Given the description of an element on the screen output the (x, y) to click on. 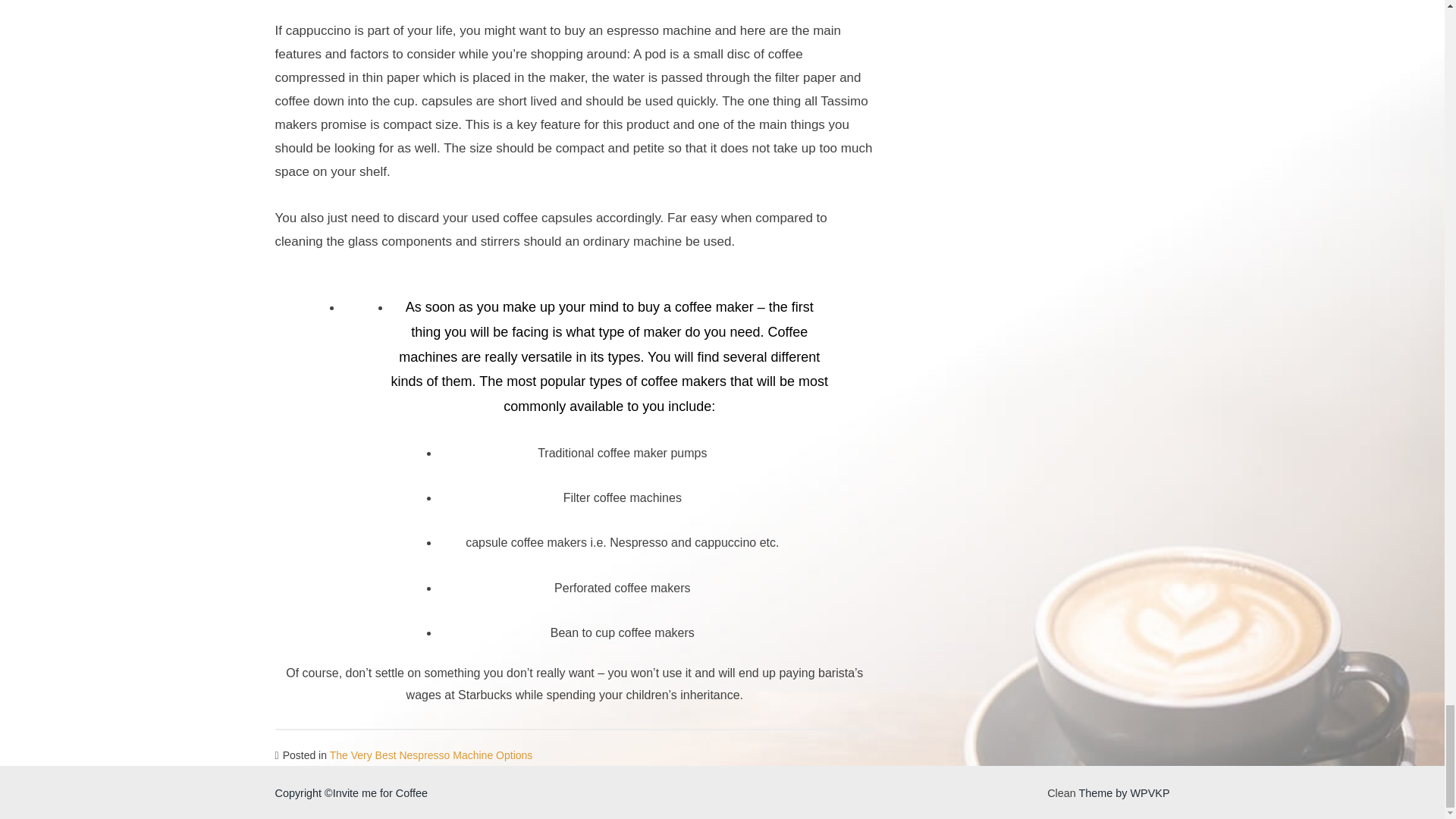
Clean (1060, 793)
The Very Best Nespresso Machine Options (431, 755)
